Given the description of an element on the screen output the (x, y) to click on. 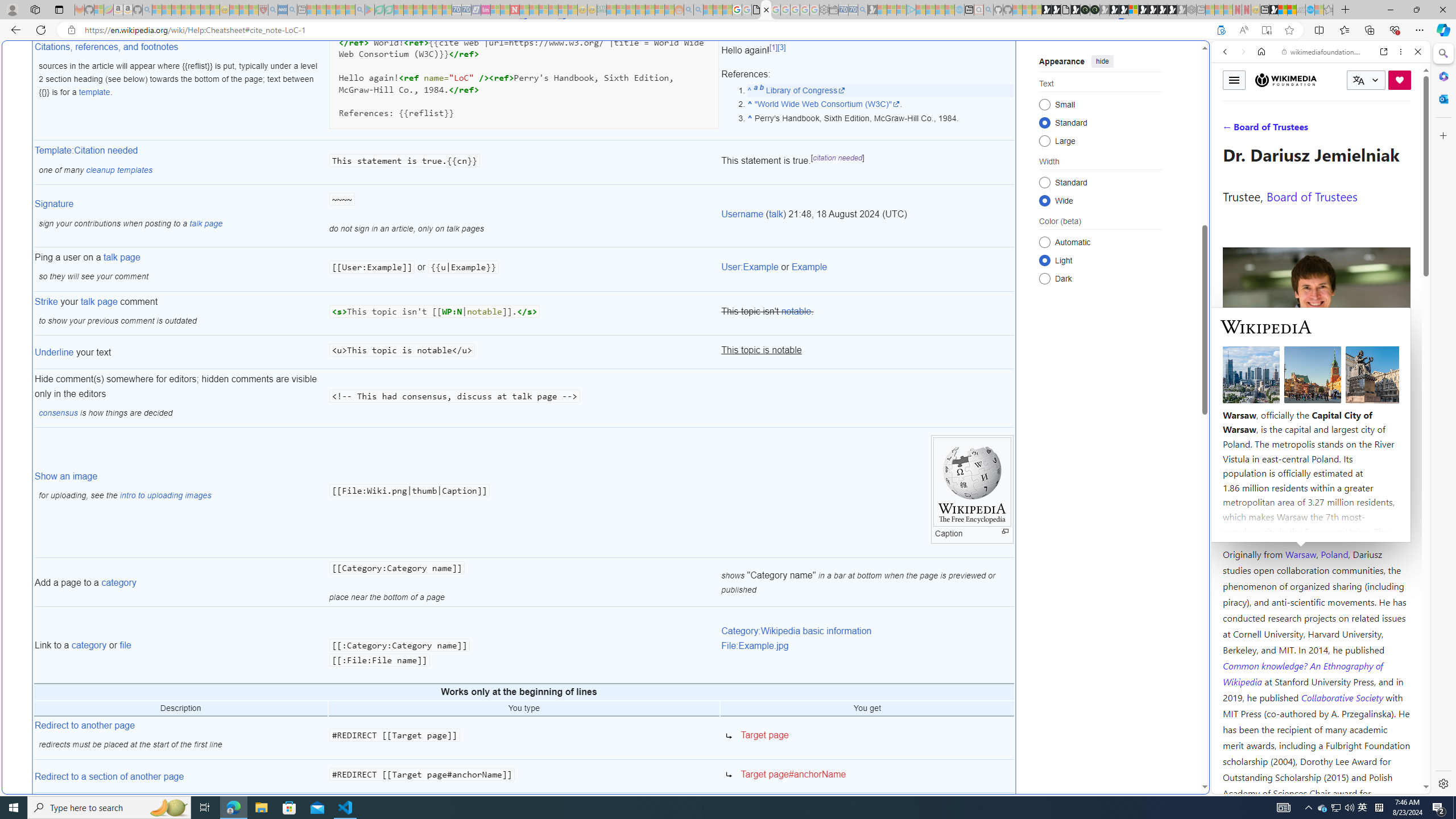
Automatic (1044, 241)
talk (775, 213)
Frequently visited (965, 151)
Standard (1044, 182)
 [[:Category:Category name]] [[:File:File name]] (523, 645)
